Given the description of an element on the screen output the (x, y) to click on. 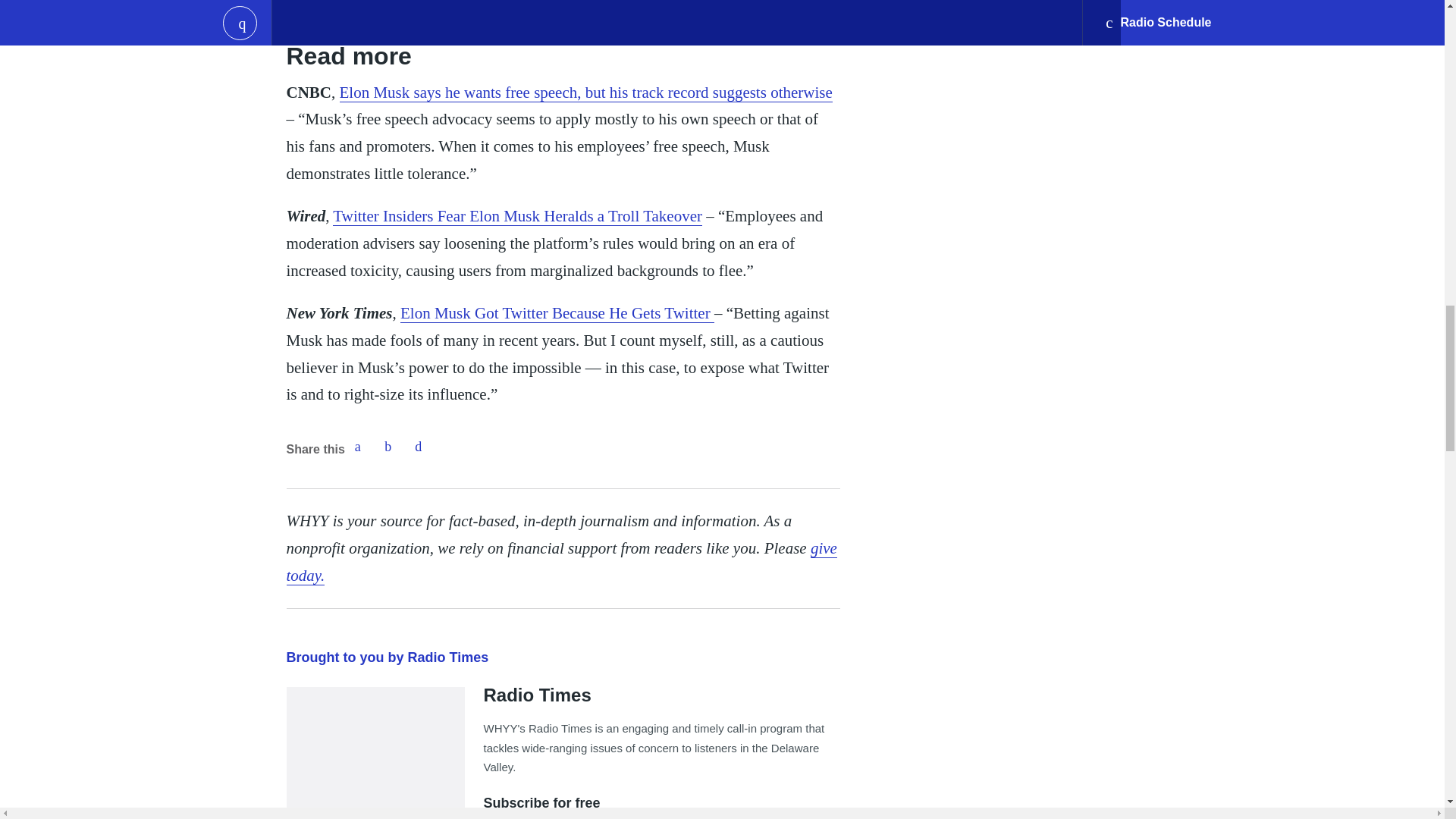
Facebook (357, 446)
Twitter (387, 446)
Email (418, 446)
